Given the description of an element on the screen output the (x, y) to click on. 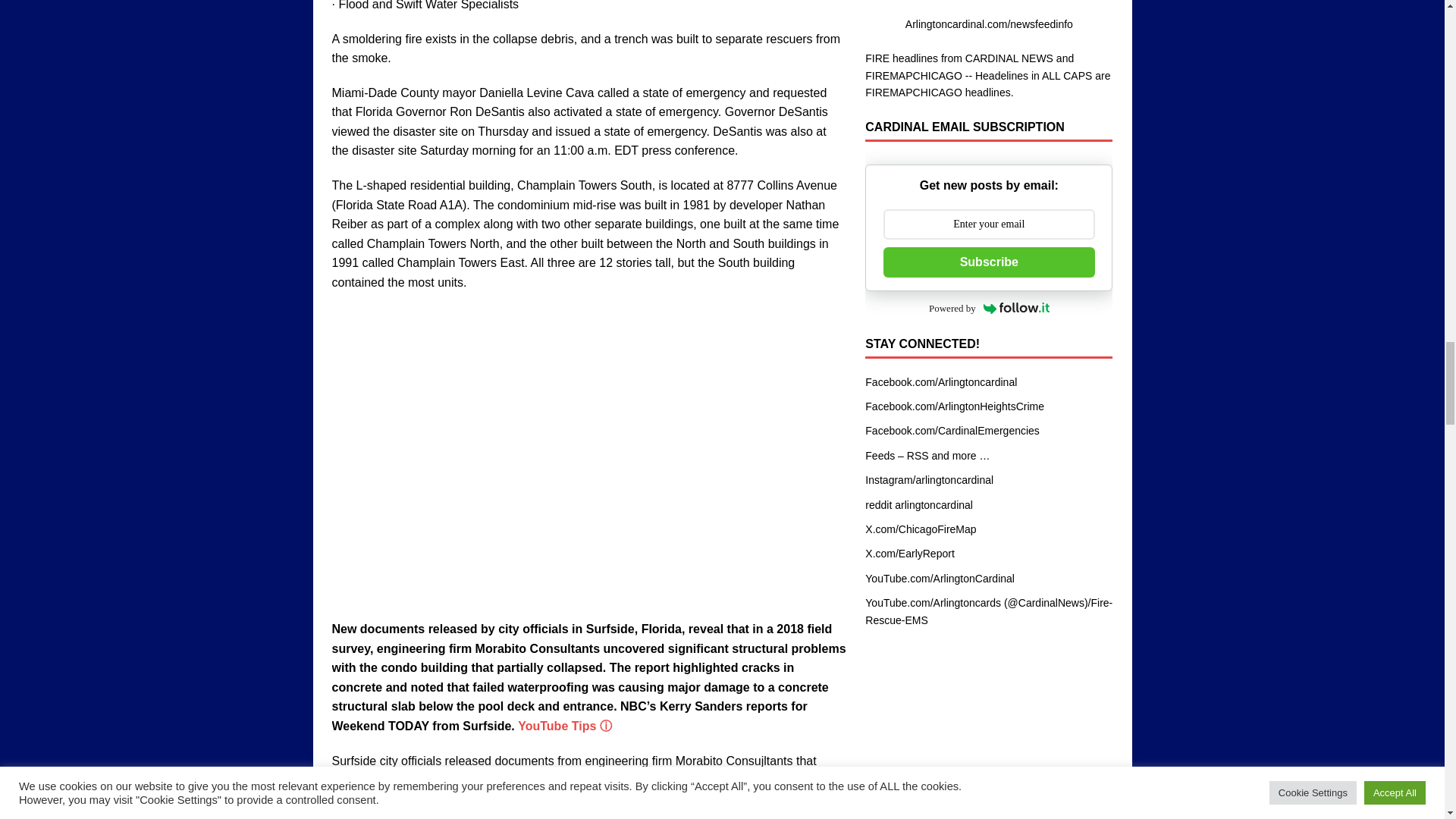
Not much activity here on reddit, yet. (918, 504)
